Given the description of an element on the screen output the (x, y) to click on. 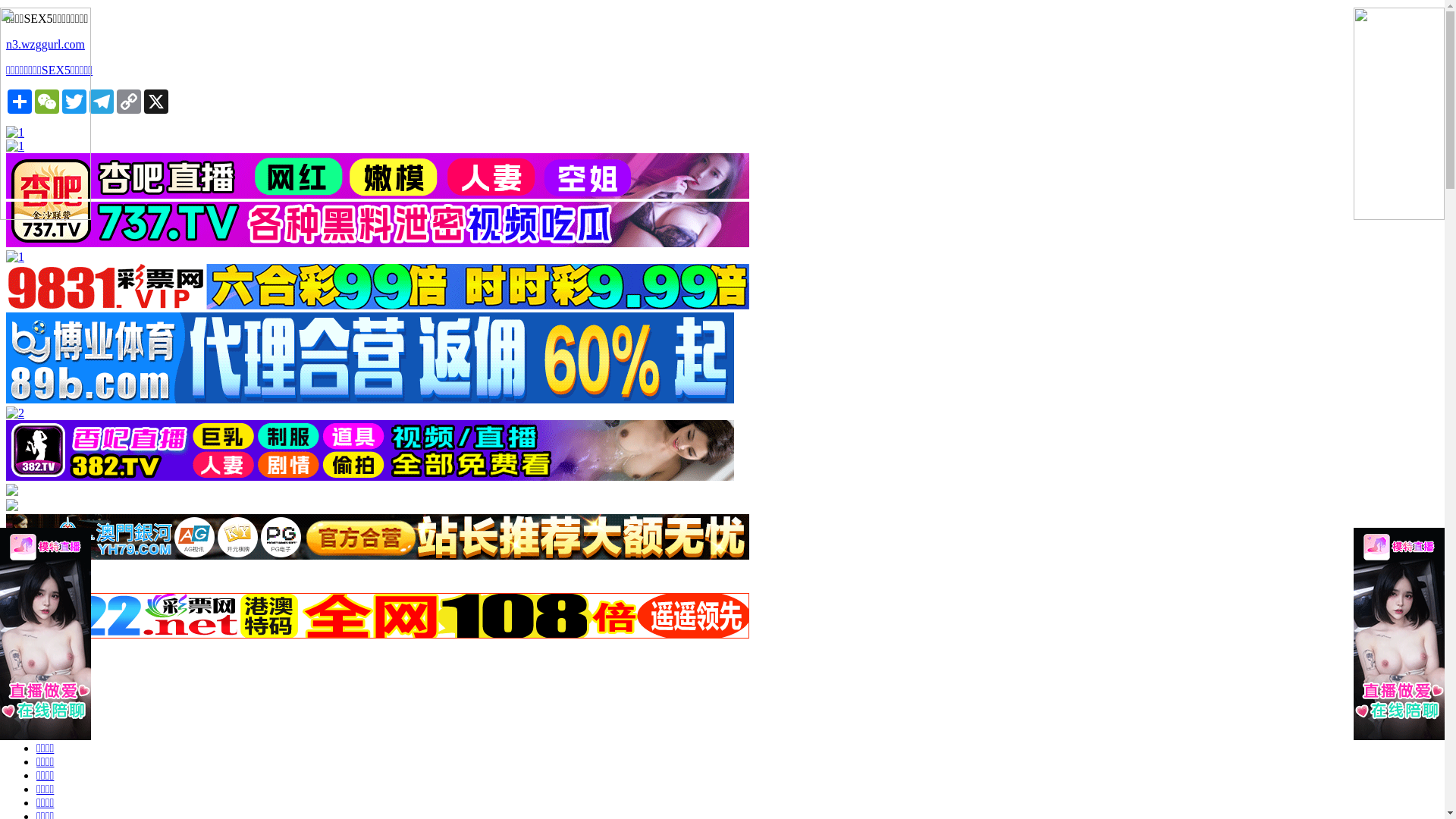
X Element type: text (155, 101)
Telegram Element type: text (101, 101)
WeChat Element type: text (46, 101)
Copy Link Element type: text (128, 101)
n3.wzggurl.com Element type: text (722, 44)
Twitter Element type: text (73, 101)
